Given the description of an element on the screen output the (x, y) to click on. 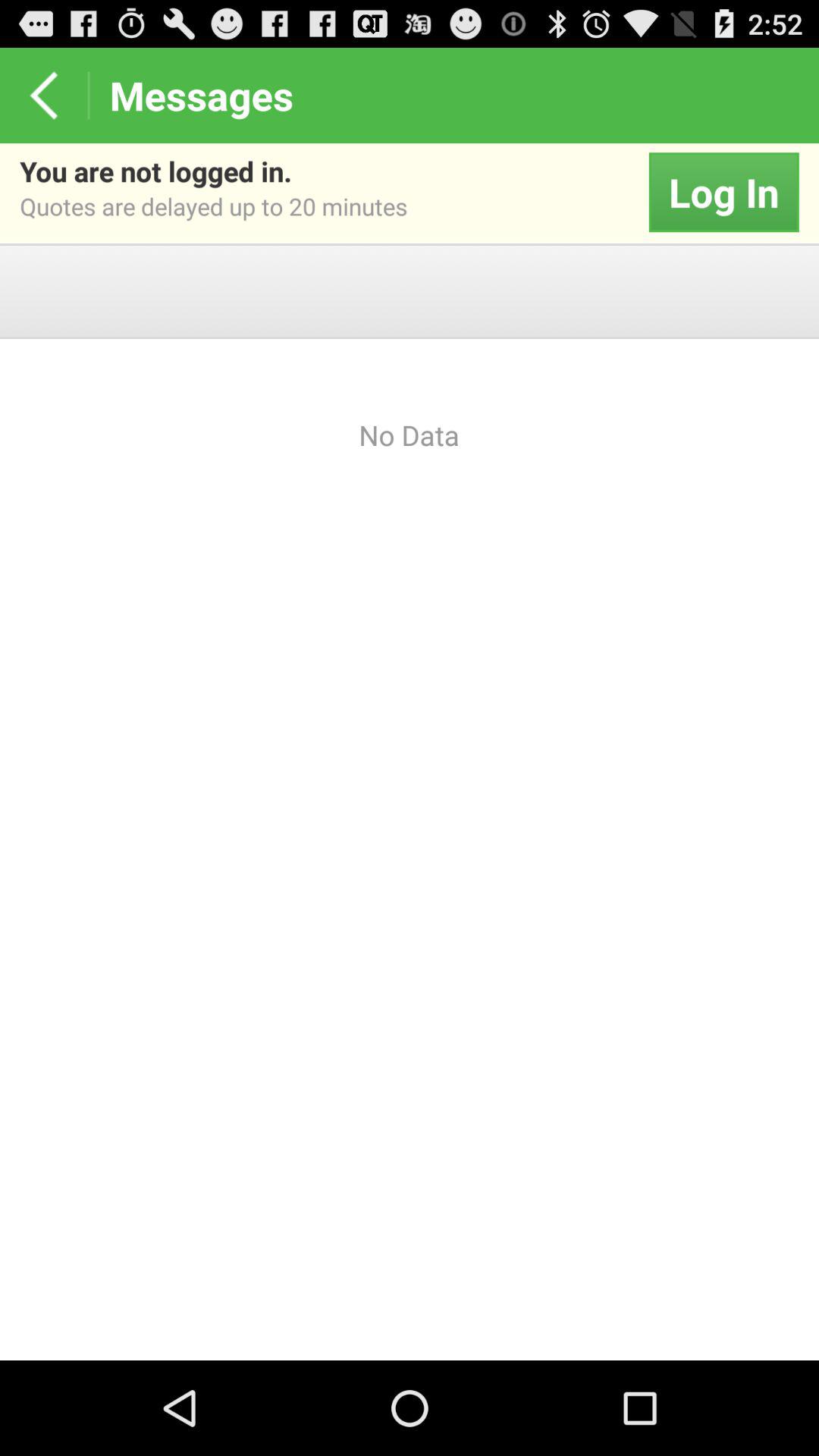
choose app next to the messages app (43, 95)
